Given the description of an element on the screen output the (x, y) to click on. 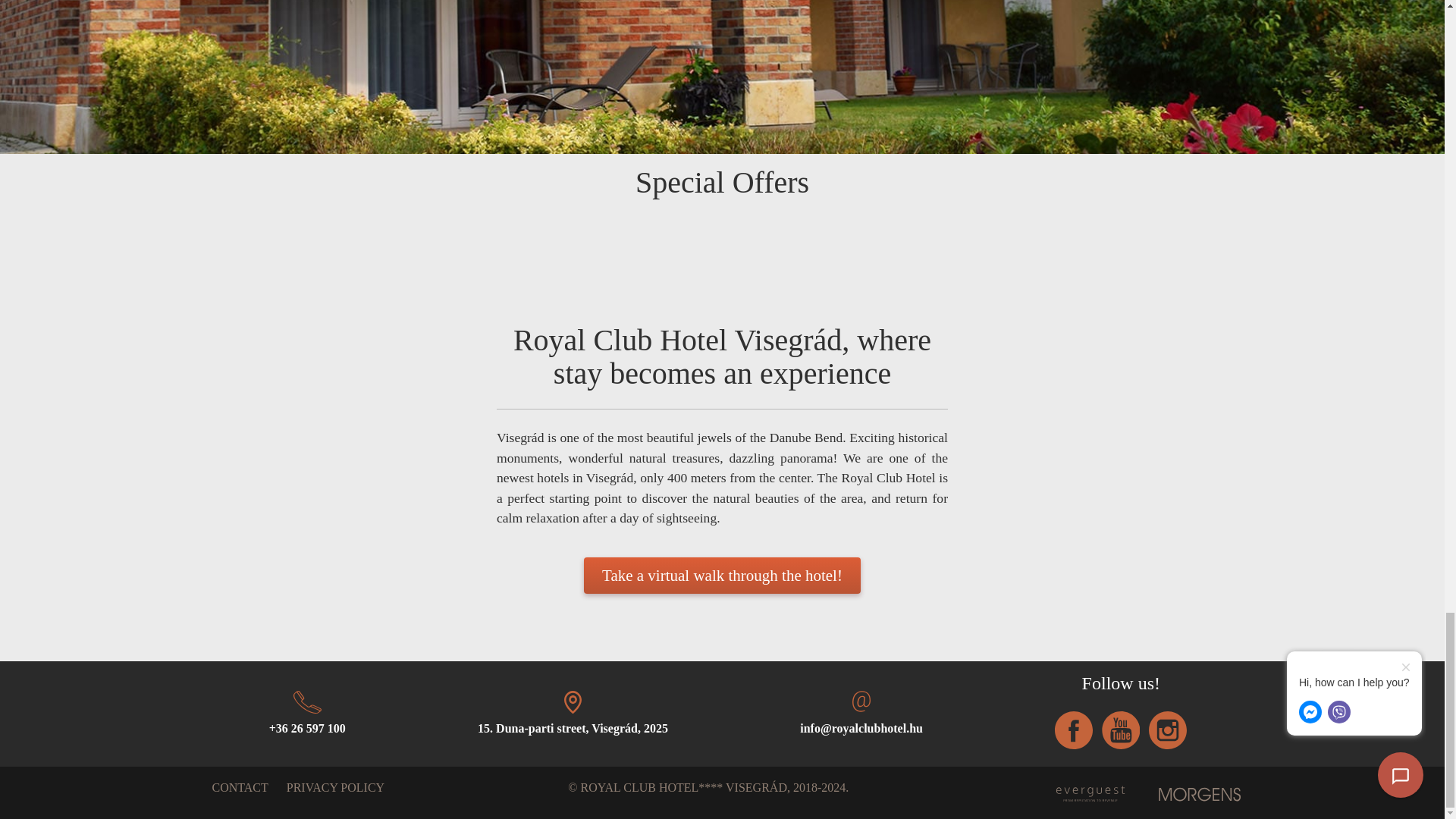
Take a virtual walk through the hotel! (721, 575)
